Given the description of an element on the screen output the (x, y) to click on. 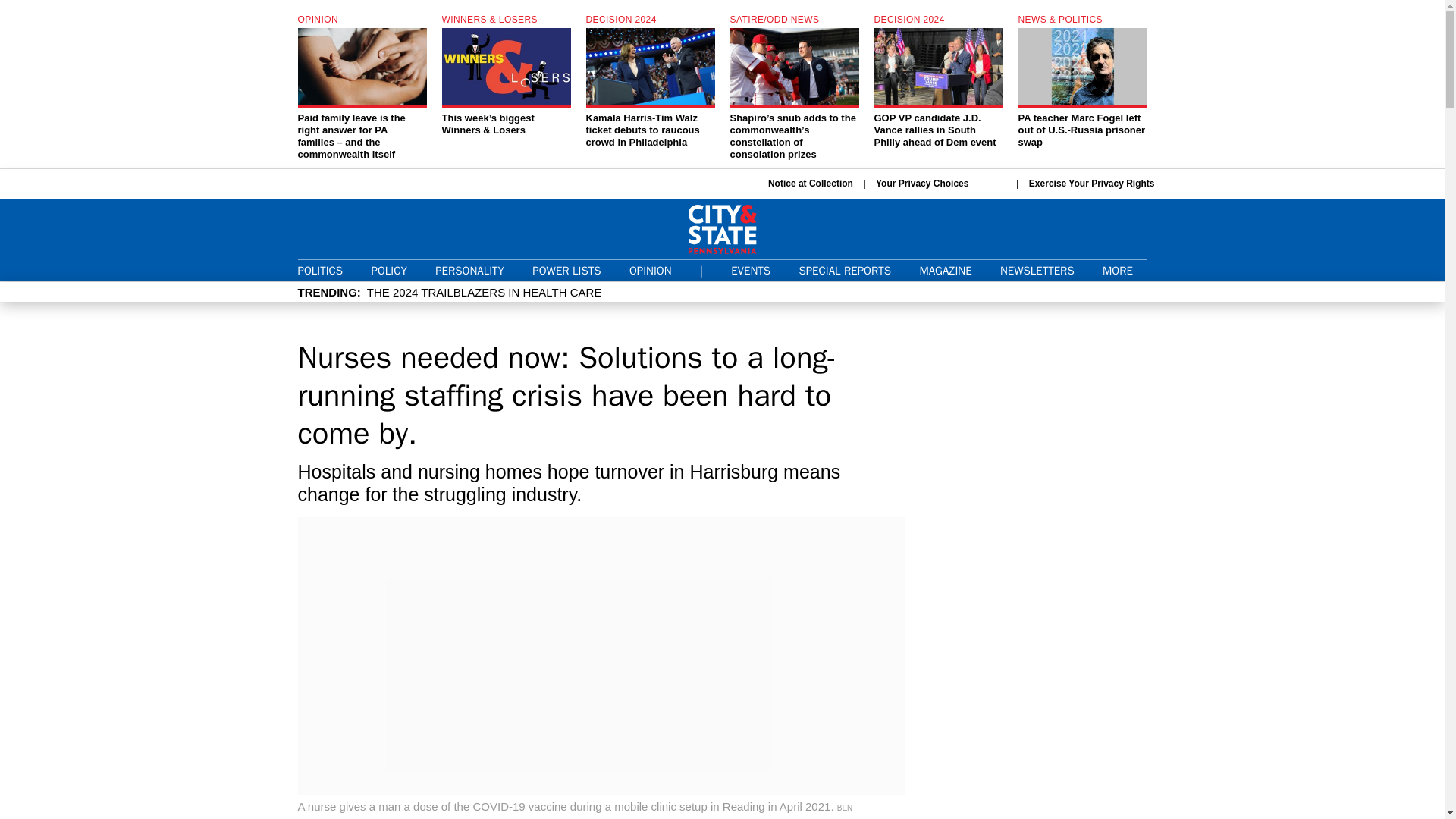
Your Privacy Choices (941, 183)
POWER LISTS (565, 270)
SPECIAL REPORTS (844, 270)
PERSONALITY (469, 270)
NEWSLETTERS (1037, 270)
POLITICS (319, 270)
OPINION (649, 270)
EVENTS (750, 270)
